Given the description of an element on the screen output the (x, y) to click on. 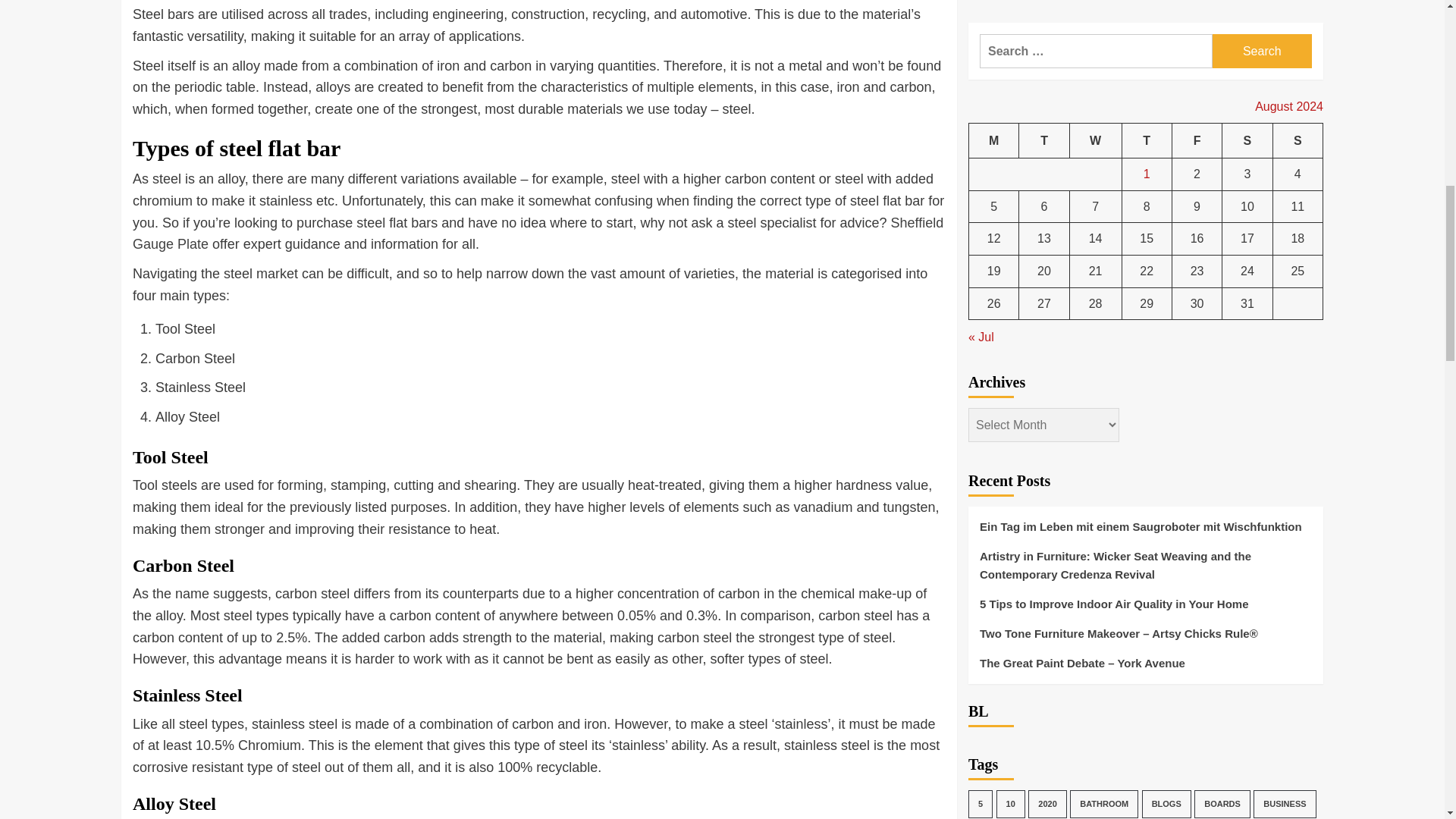
Sheffield Gauge Plate (537, 233)
